Given the description of an element on the screen output the (x, y) to click on. 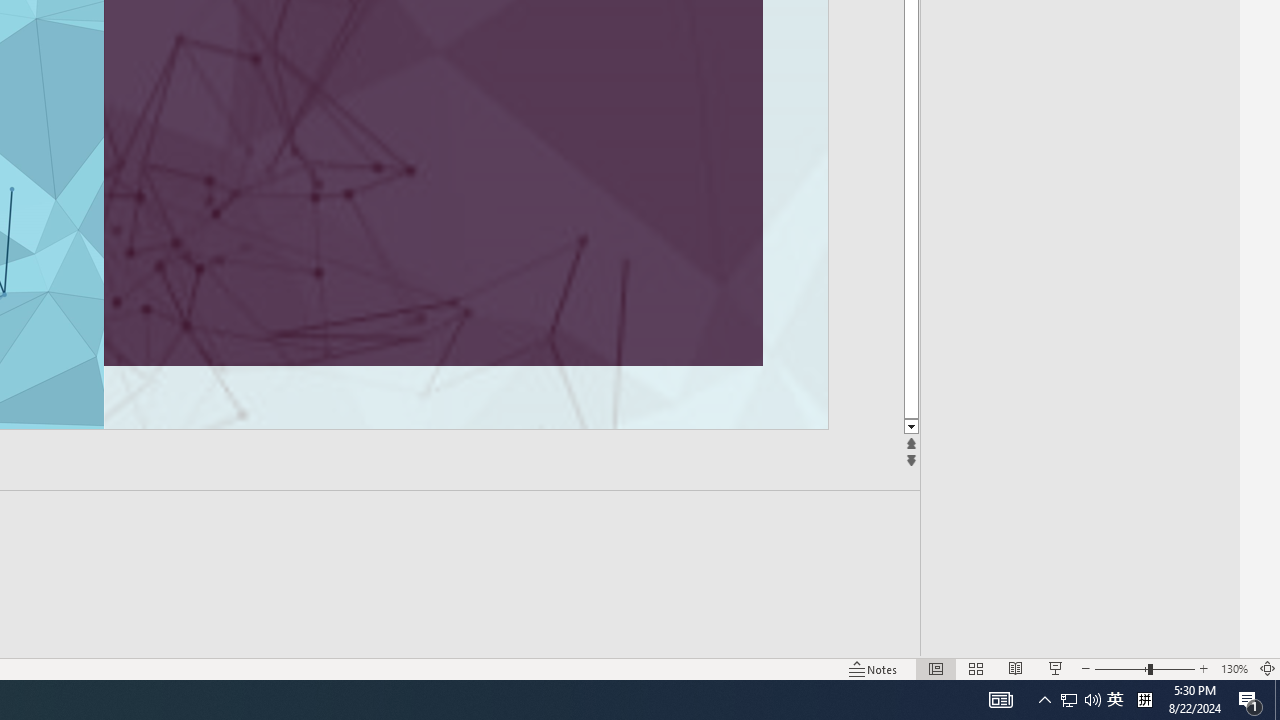
Zoom (1144, 668)
Zoom to Fit  (1267, 668)
Line down (911, 427)
Reading View (1015, 668)
Normal (936, 668)
Notes  (874, 668)
Zoom Out (1121, 668)
Slide Sorter (975, 668)
Zoom In (1204, 668)
Zoom 130% (1234, 668)
